Given the description of an element on the screen output the (x, y) to click on. 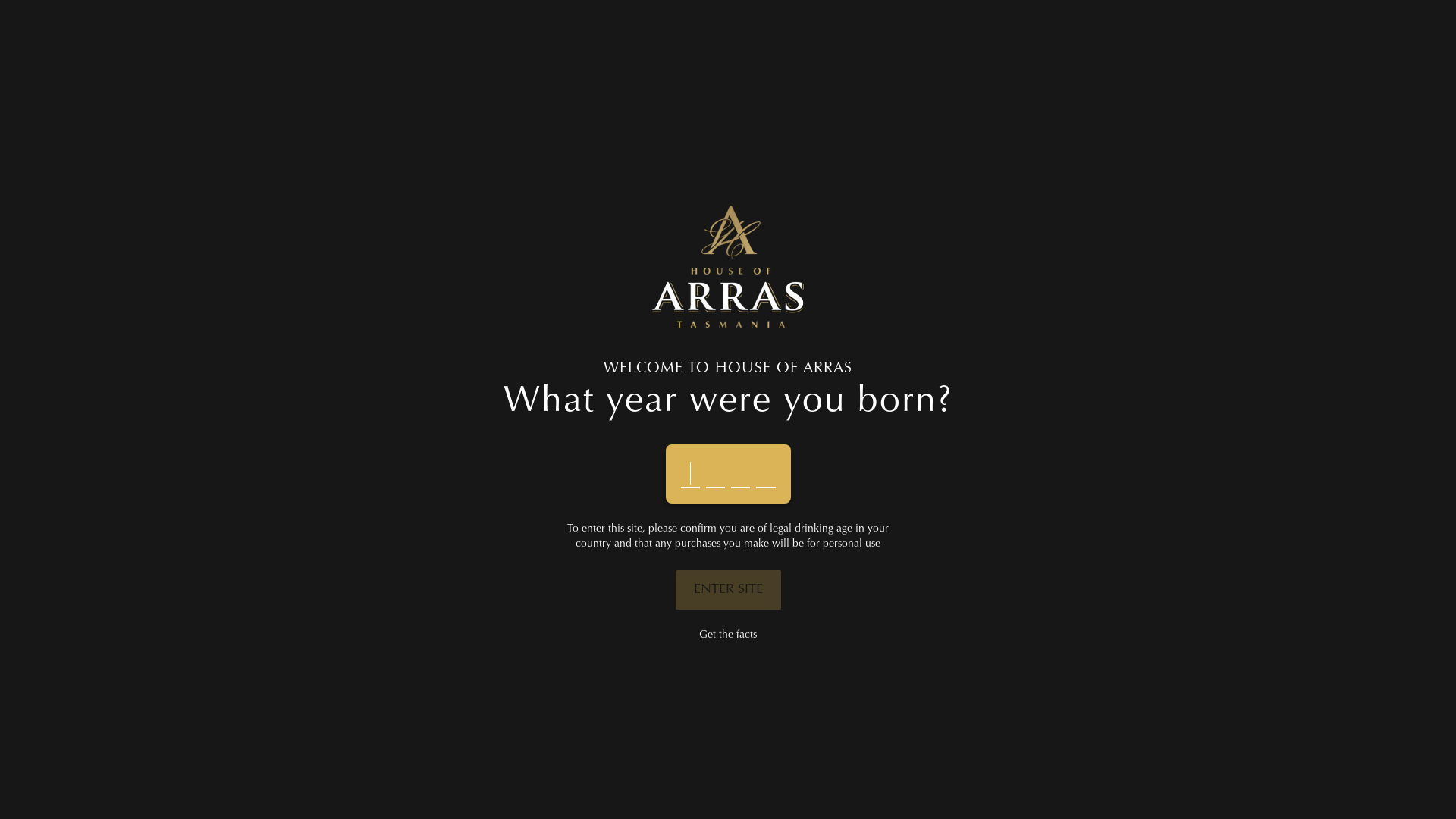
Cellar Door Element type: text (509, 676)
Contact Us Element type: text (509, 698)
Our Ranges Element type: text (727, 676)
Our Wines Element type: text (669, 45)
Bookings Essential Element type: text (1109, 744)
Our Story Element type: text (509, 654)
Privacy Policy Element type: text (509, 741)
Latest Release Element type: text (727, 654)
ENTER SITE Element type: text (727, 589)
Our Story Element type: text (405, 45)
Get the facts Element type: text (727, 635)
SEARCH Element type: text (527, 315)
www.drinkwise.org.au Element type: text (710, 794)
BOOK NOW Element type: text (759, 44)
Cellar Door Element type: text (586, 45)
continue shopping Element type: text (604, 190)
40 Baxters Rd, Pipers River, Tasmania 7252 Element type: text (1154, 661)
Shopping Cart Element type: hover (1225, 44)
Terms and Conditions Element type: text (509, 720)
Latest Release Element type: text (492, 45)
